Given the description of an element on the screen output the (x, y) to click on. 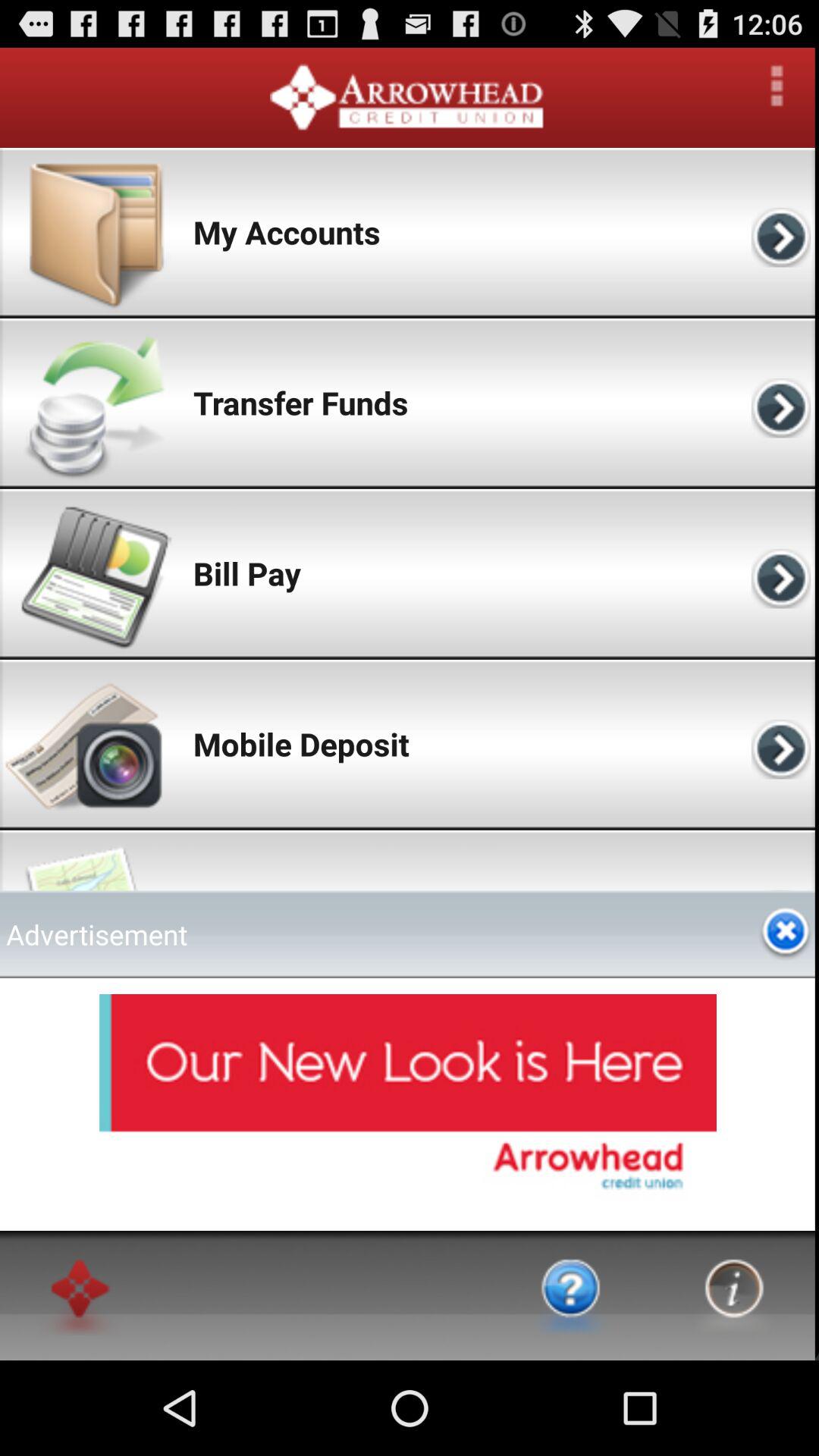
go to (571, 1295)
select the next option which is after bill pay (782, 573)
